Given the description of an element on the screen output the (x, y) to click on. 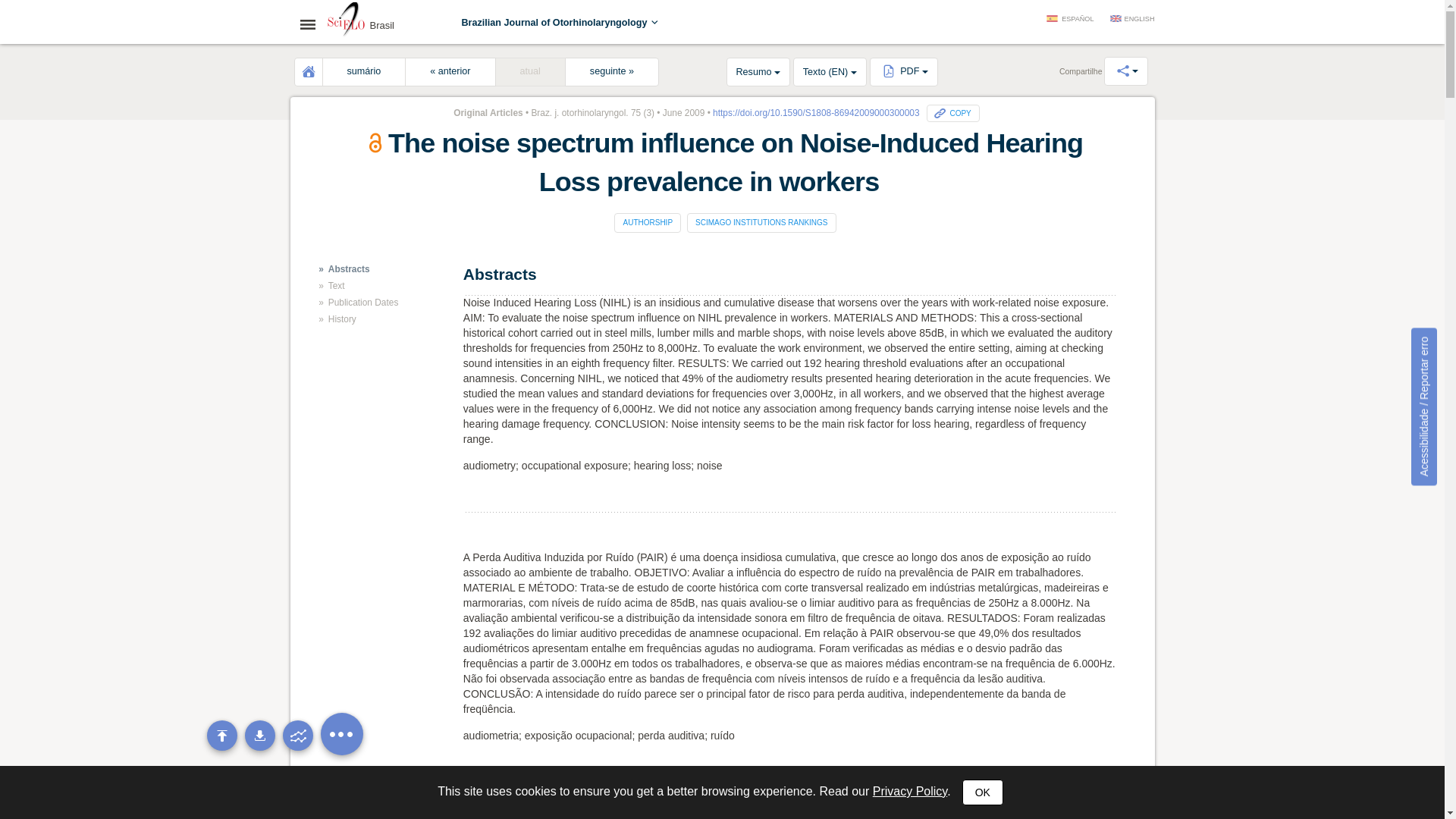
Brazilian Journal of Otorhinolaryngology (560, 22)
Brasil (346, 21)
Abrir menu (312, 23)
Abrir menu (312, 23)
